Given the description of an element on the screen output the (x, y) to click on. 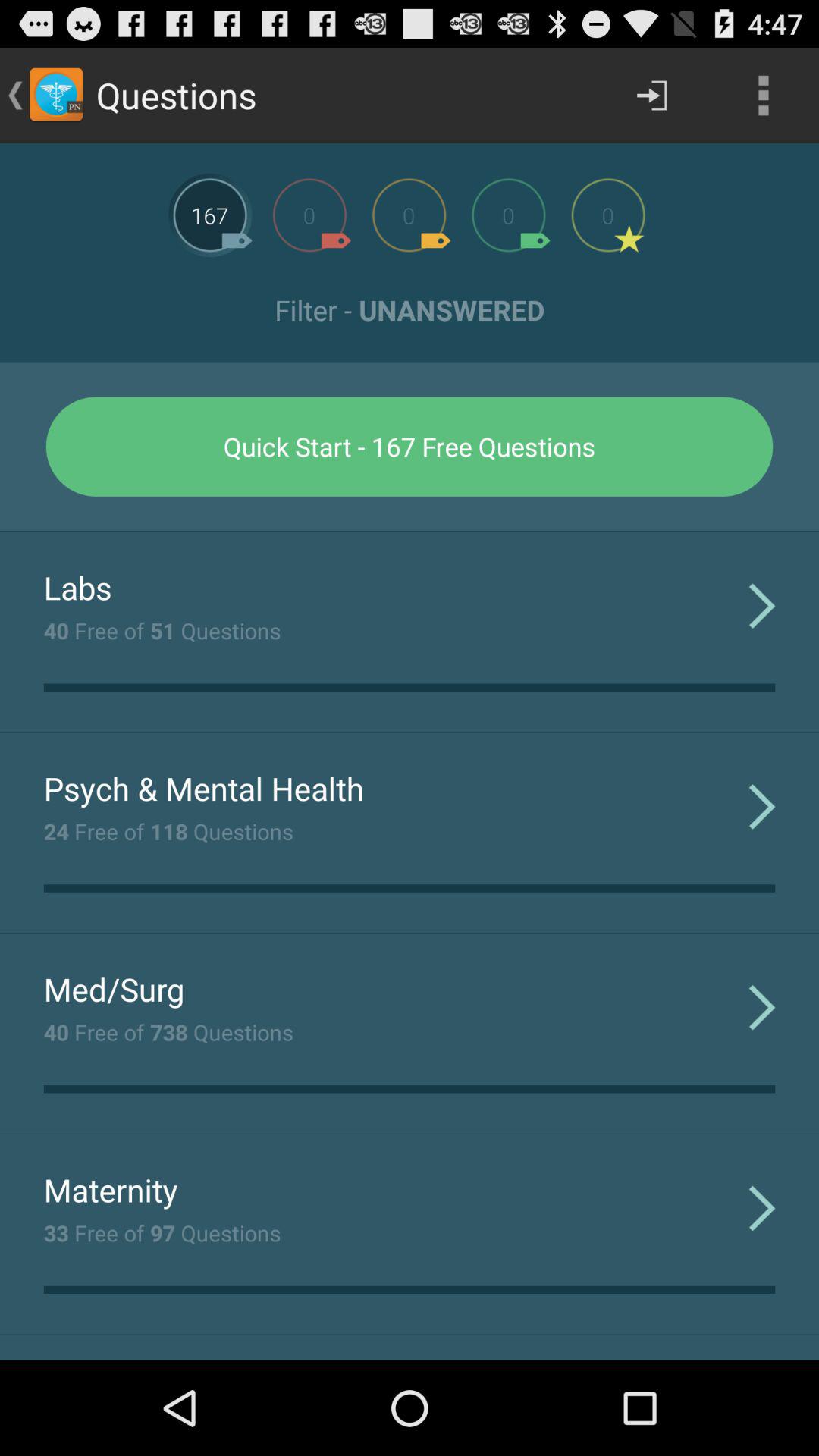
flip until maternity icon (110, 1189)
